Given the description of an element on the screen output the (x, y) to click on. 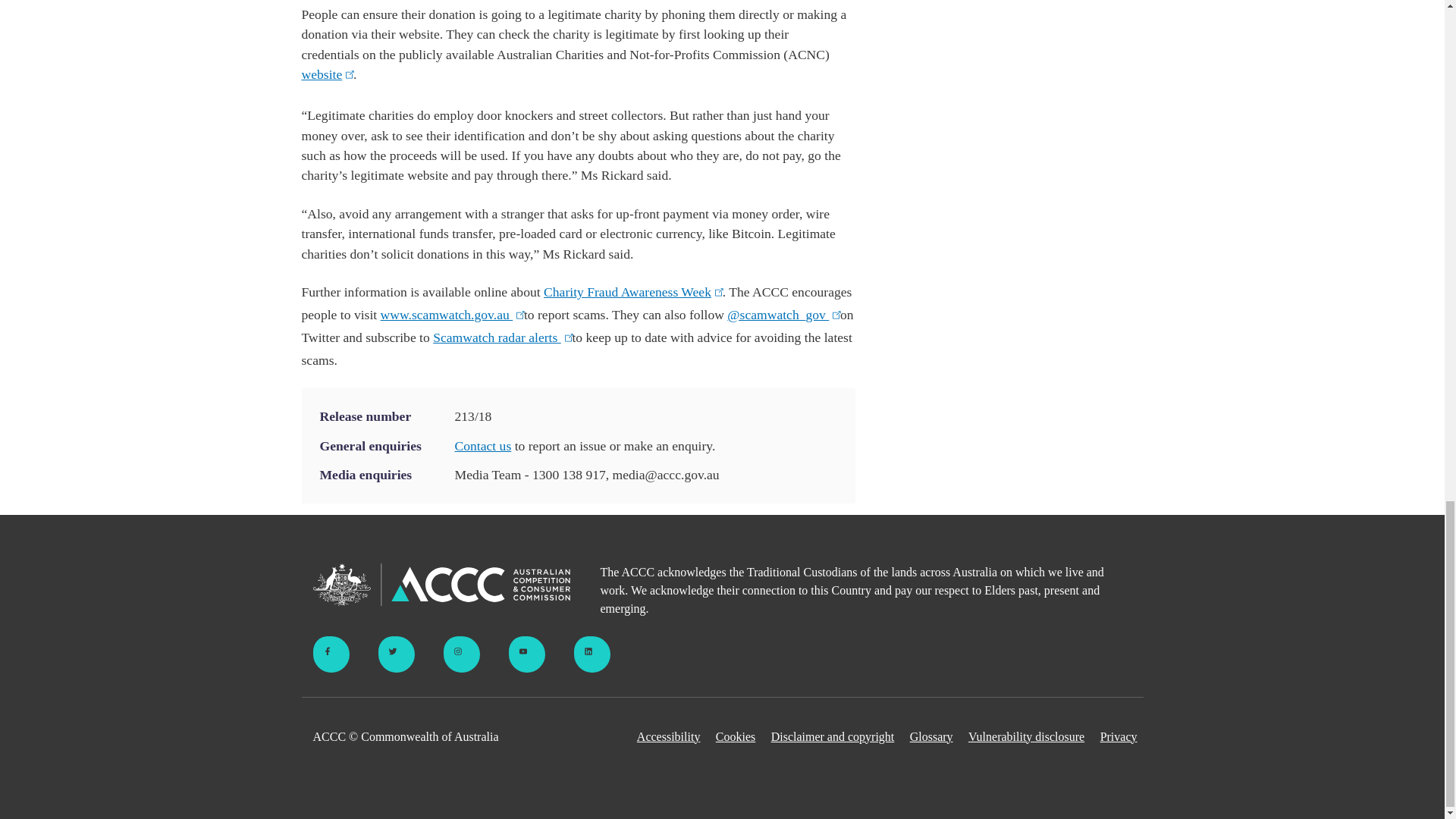
Cookies and website analytics (735, 737)
